Given the description of an element on the screen output the (x, y) to click on. 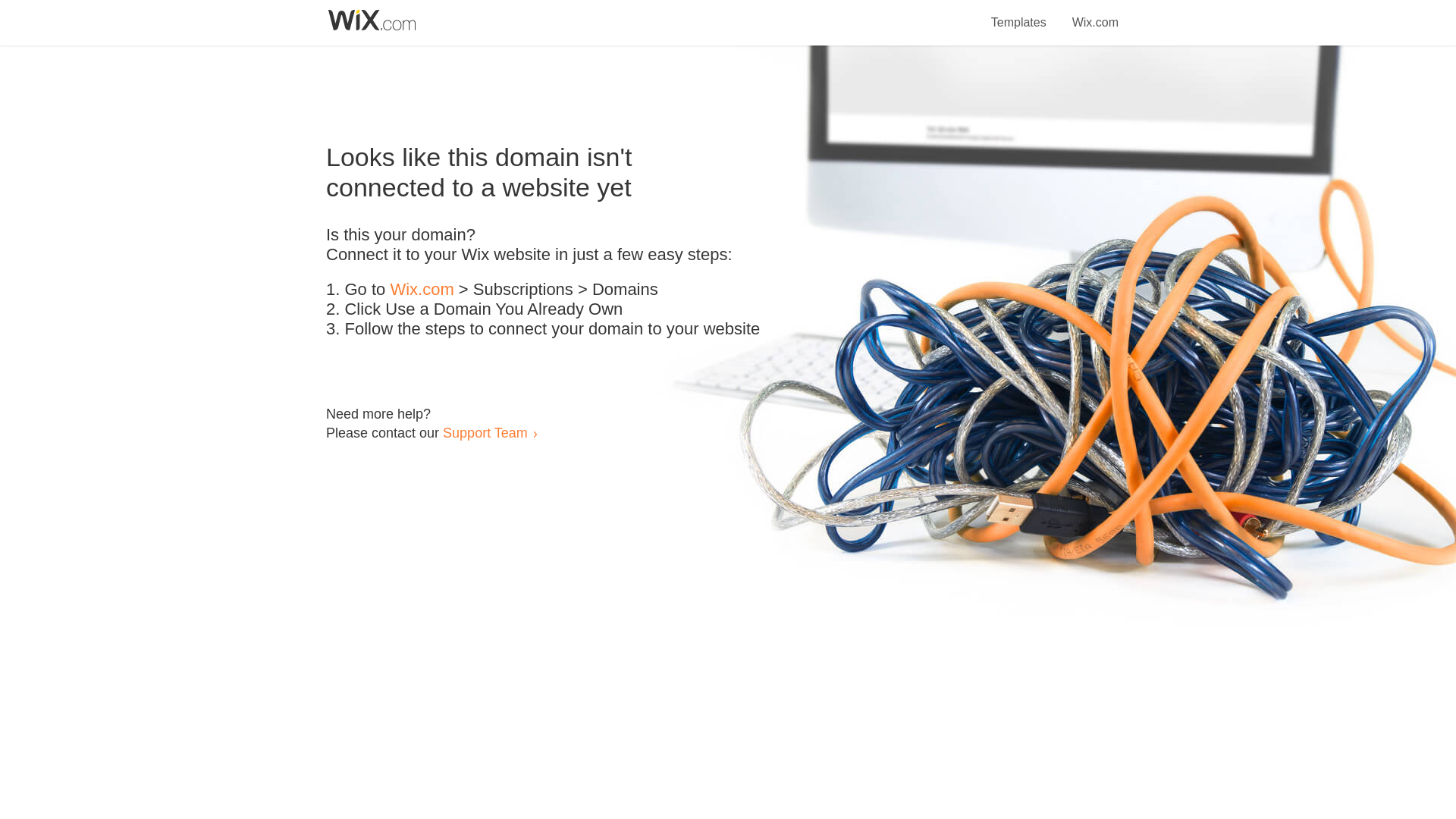
Templates (1018, 14)
Support Team (484, 432)
Wix.com (1095, 14)
Wix.com (421, 289)
